Given the description of an element on the screen output the (x, y) to click on. 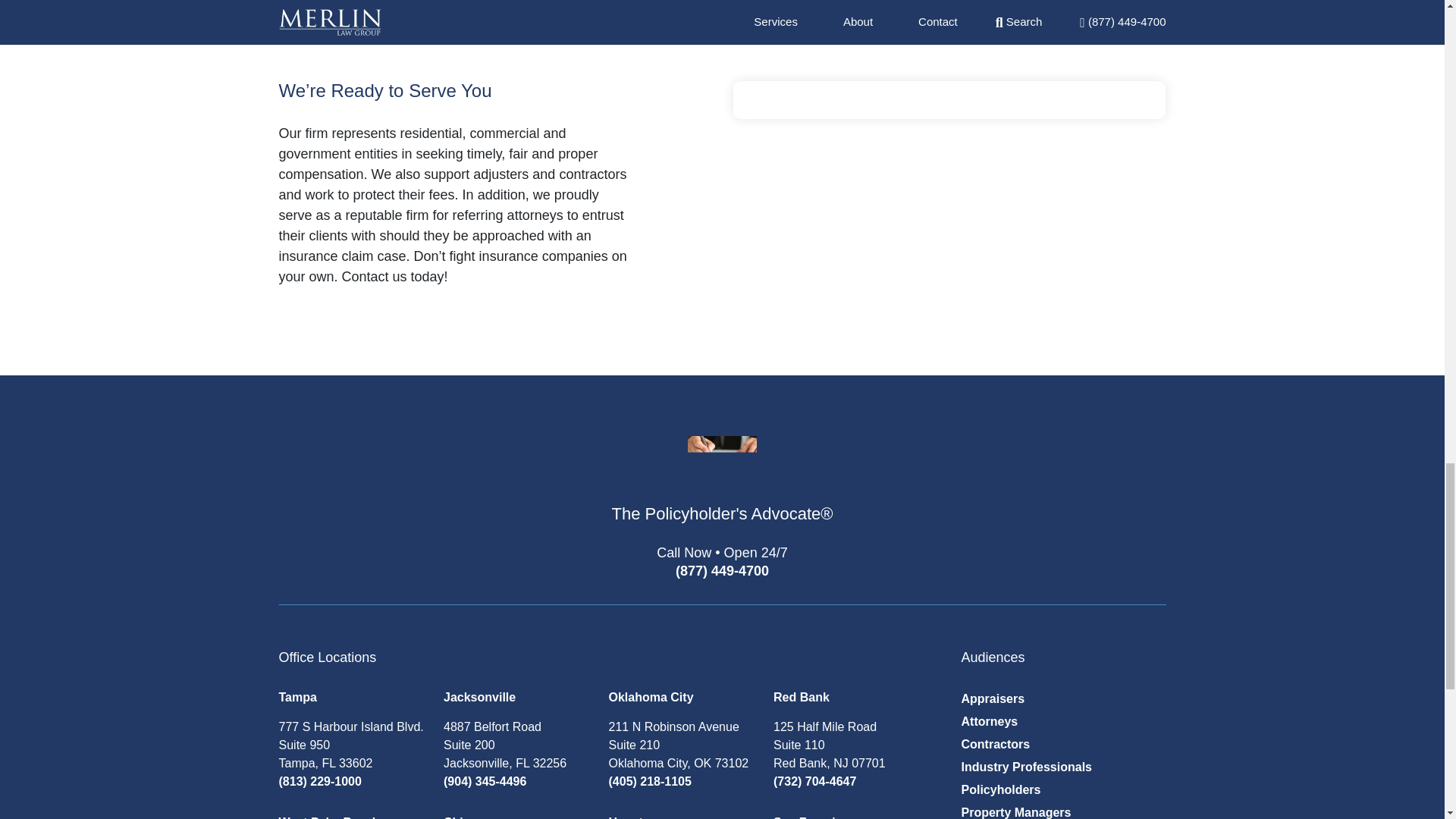
Property Insurance Coverage Law Blog (722, 492)
